Given the description of an element on the screen output the (x, y) to click on. 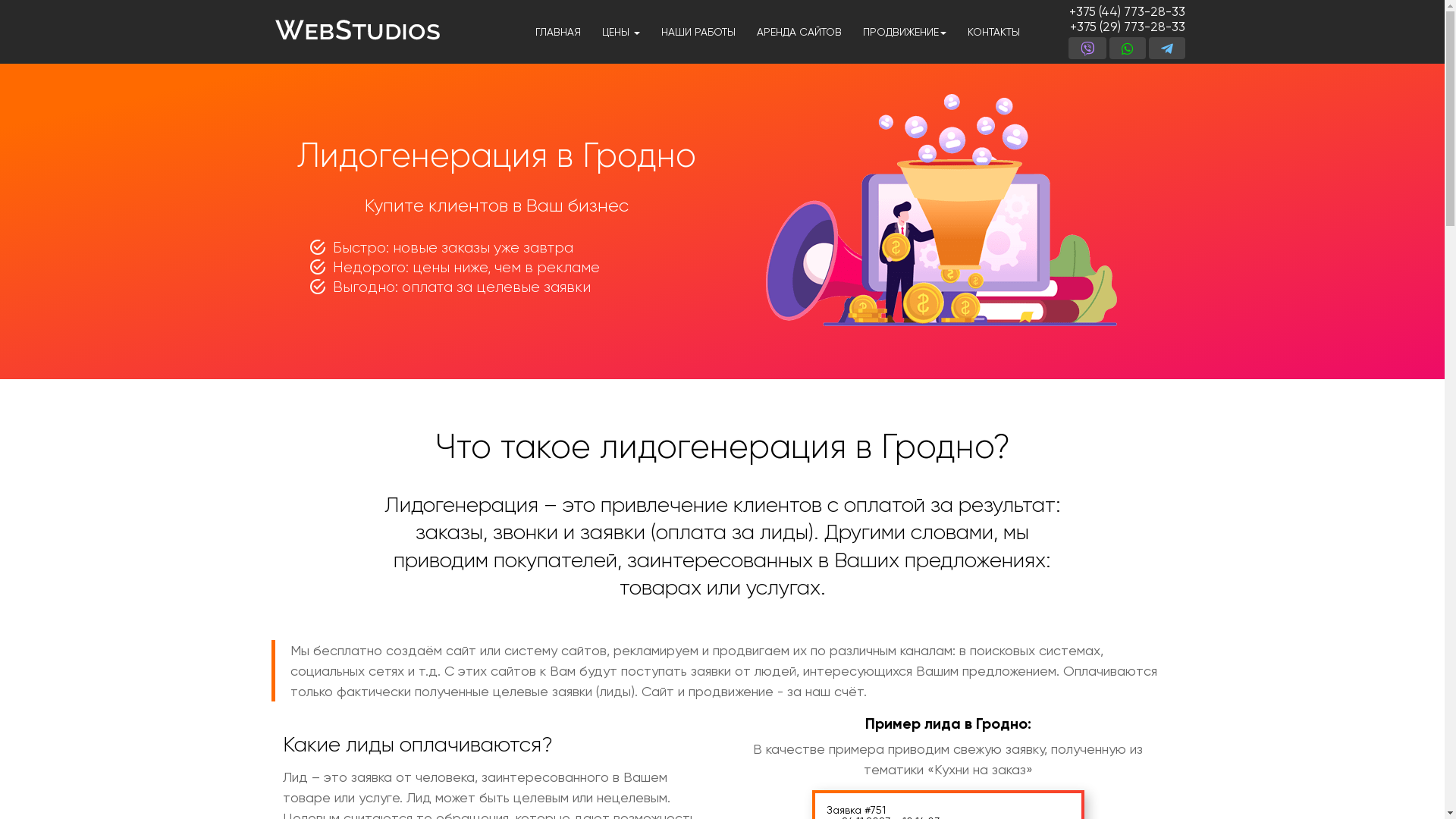
+375 (29) 773-28-33 Element type: text (1126, 26)
+375 (44) 773-28-33 Element type: text (1127, 10)
www.webstudios.by Element type: hover (356, 26)
